Given the description of an element on the screen output the (x, y) to click on. 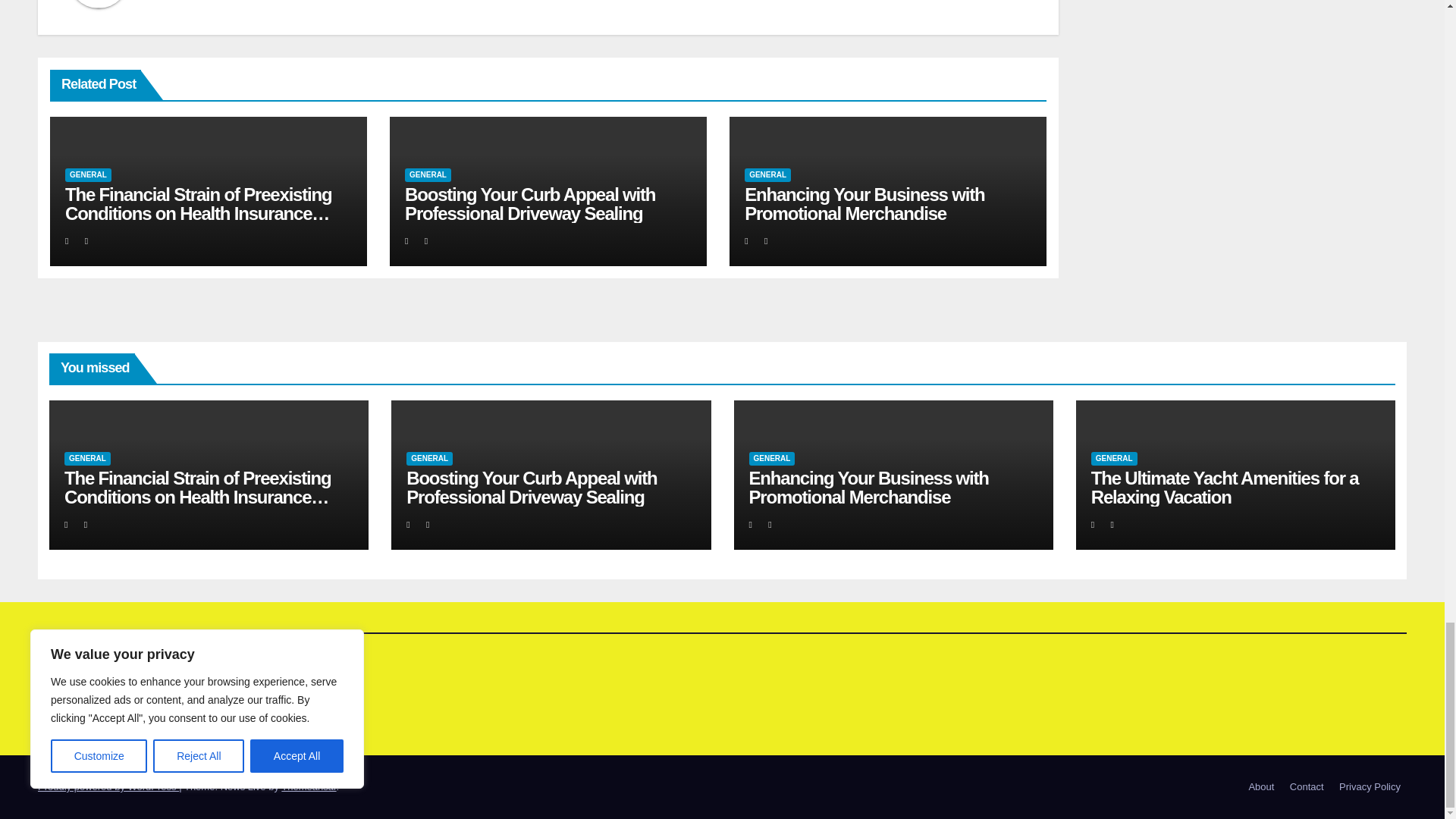
Privacy Policy (1369, 786)
About (1260, 786)
Contact (1307, 786)
